Given the description of an element on the screen output the (x, y) to click on. 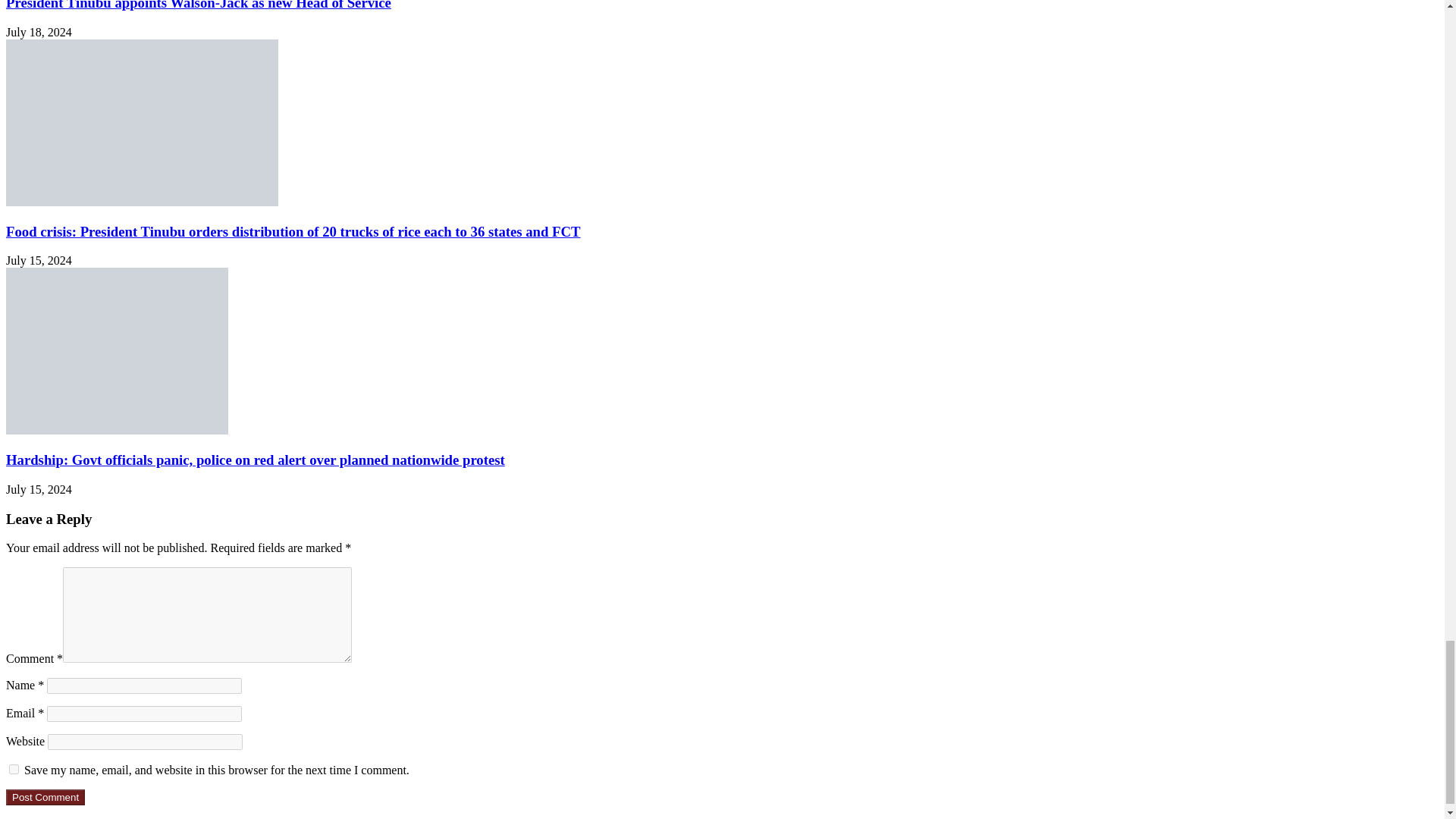
Post Comment (44, 797)
President Tinubu appoints Walson-Jack as new Head of Service (198, 5)
Post Comment (44, 797)
yes (13, 768)
